Given the description of an element on the screen output the (x, y) to click on. 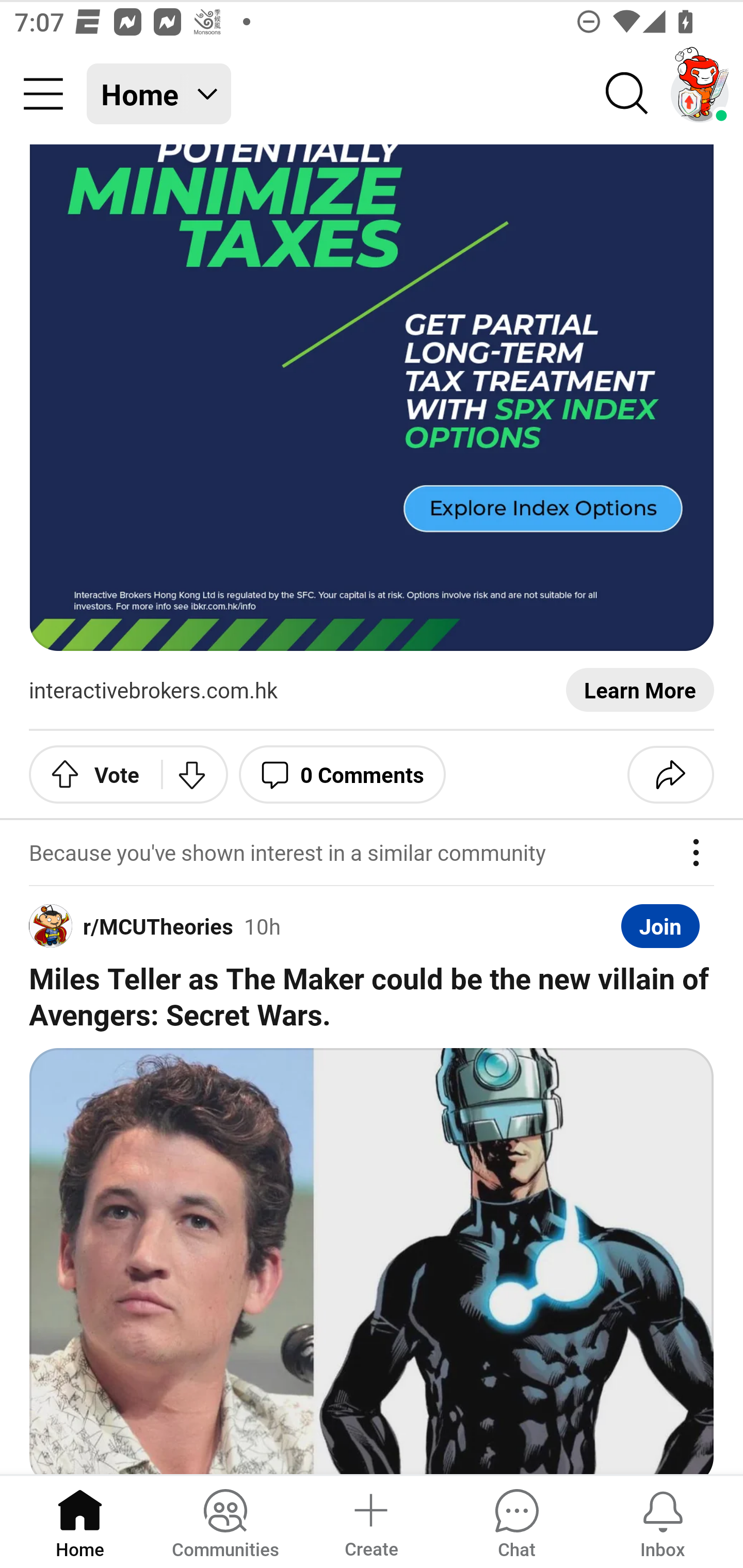
Community menu (43, 93)
Home Home feed (158, 93)
Search (626, 93)
TestAppium002 account (699, 93)
Home (80, 1520)
Communities (225, 1520)
Create a post Create (370, 1520)
Chat (516, 1520)
Inbox (662, 1520)
